Given the description of an element on the screen output the (x, y) to click on. 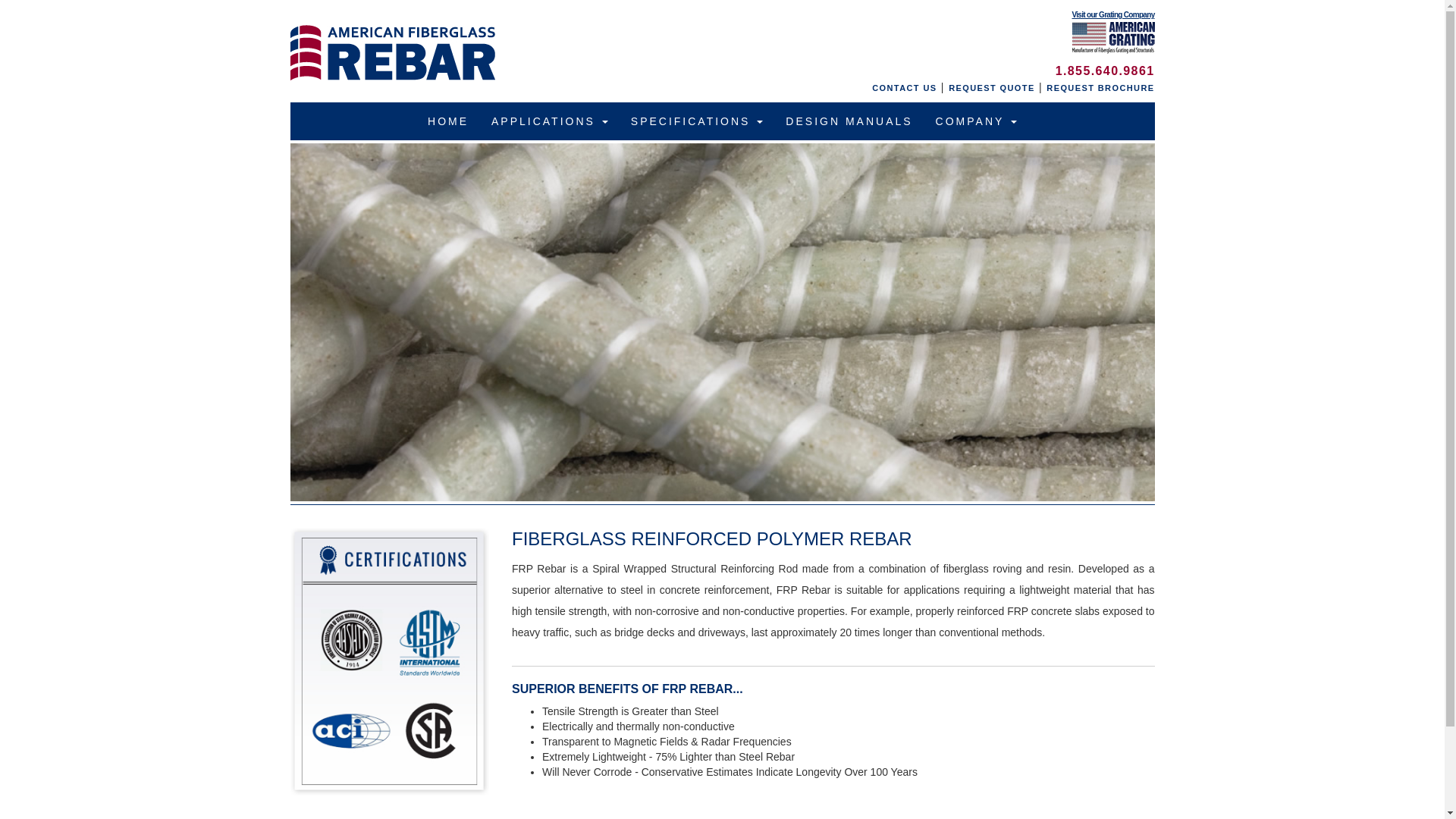
REQUEST QUOTE (992, 87)
SPECIFICATIONS (697, 121)
Visit our Grating Company (1112, 25)
DESIGN MANUALS (848, 121)
REQUEST BROCHURE (1100, 87)
HOME (448, 121)
CONTACT US (904, 87)
COMPANY (975, 121)
APPLICATIONS (550, 121)
